Given the description of an element on the screen output the (x, y) to click on. 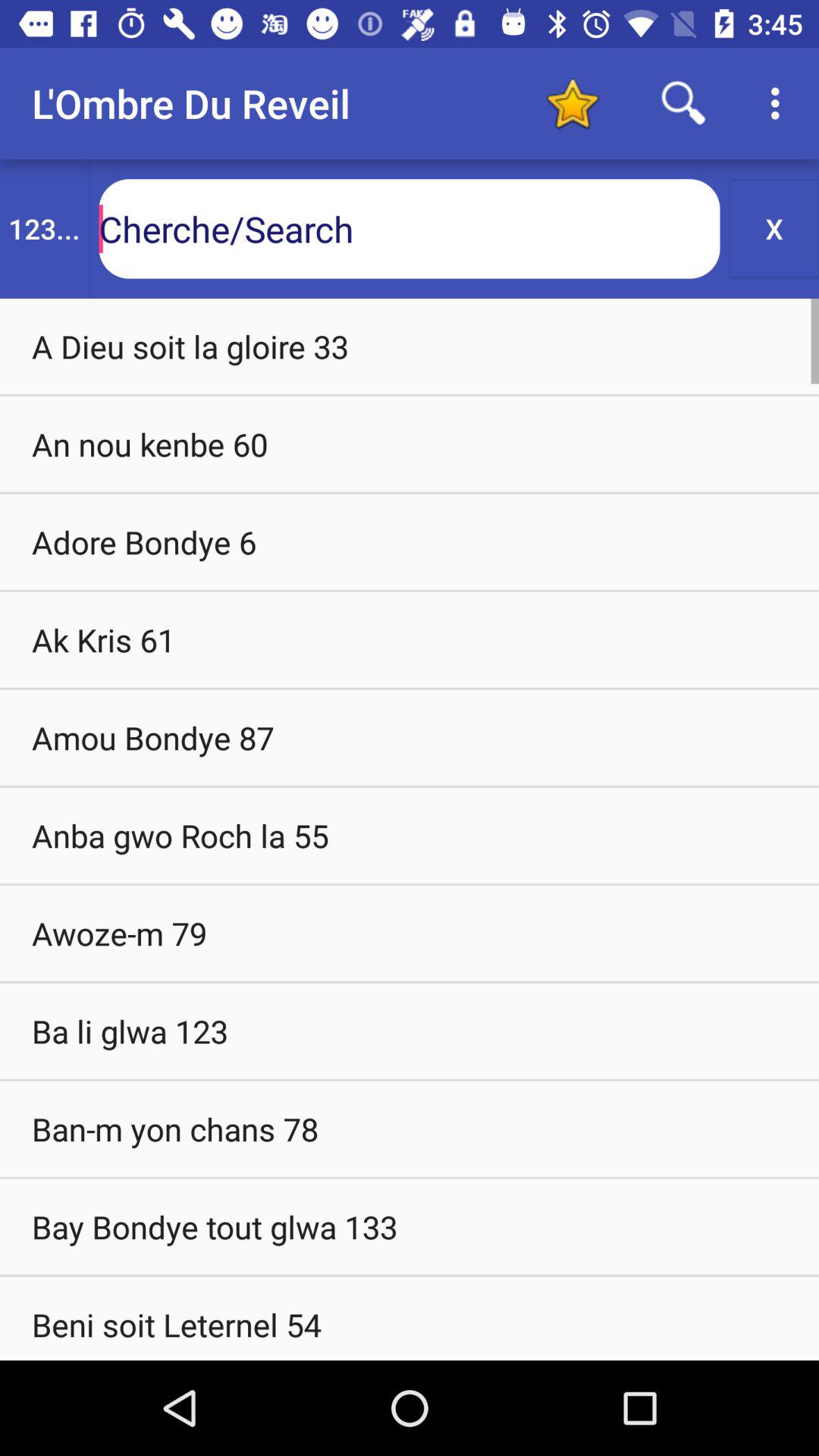
click icon below a dieu soit (409, 443)
